Given the description of an element on the screen output the (x, y) to click on. 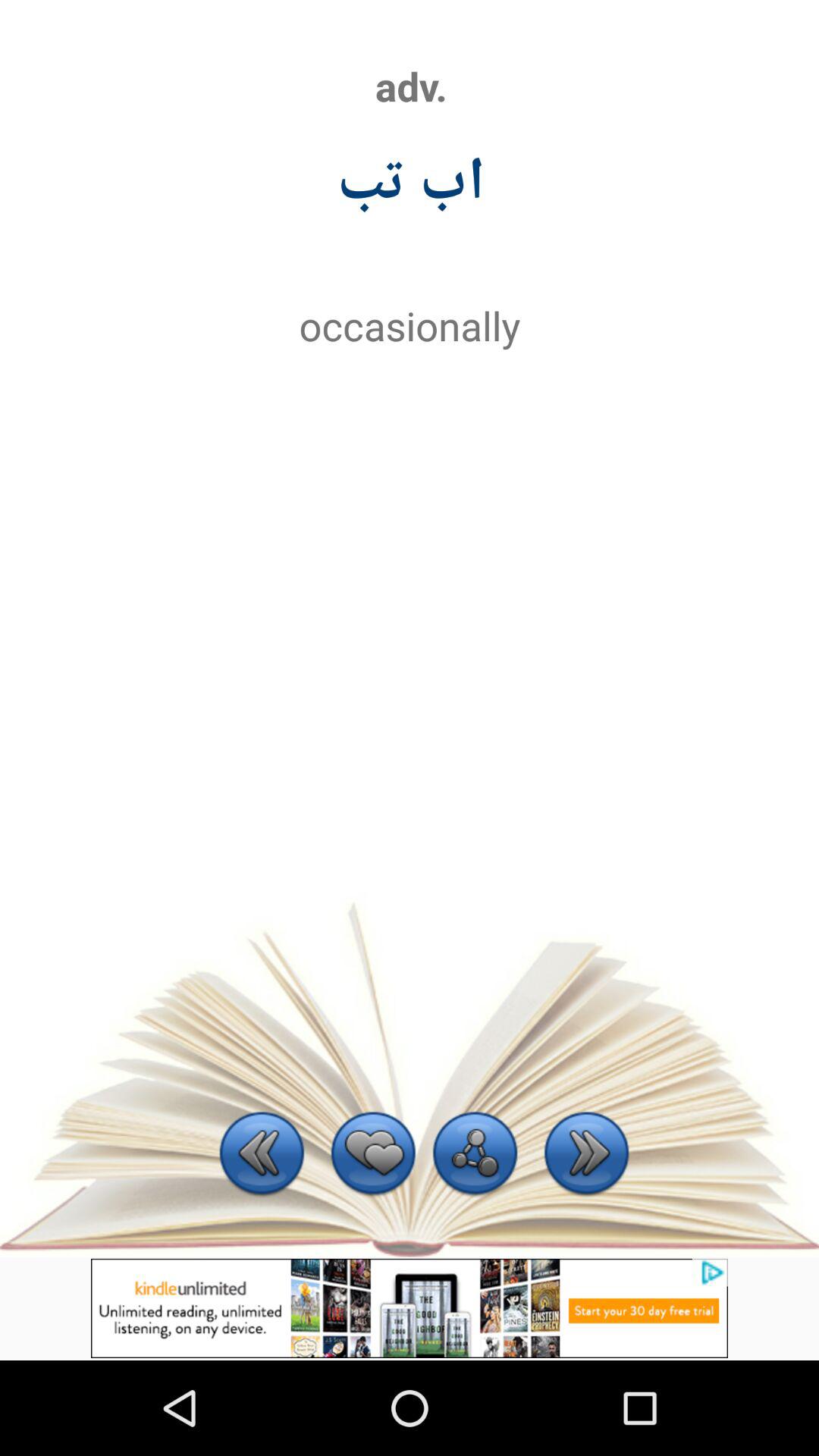
go to next (586, 1155)
